Given the description of an element on the screen output the (x, y) to click on. 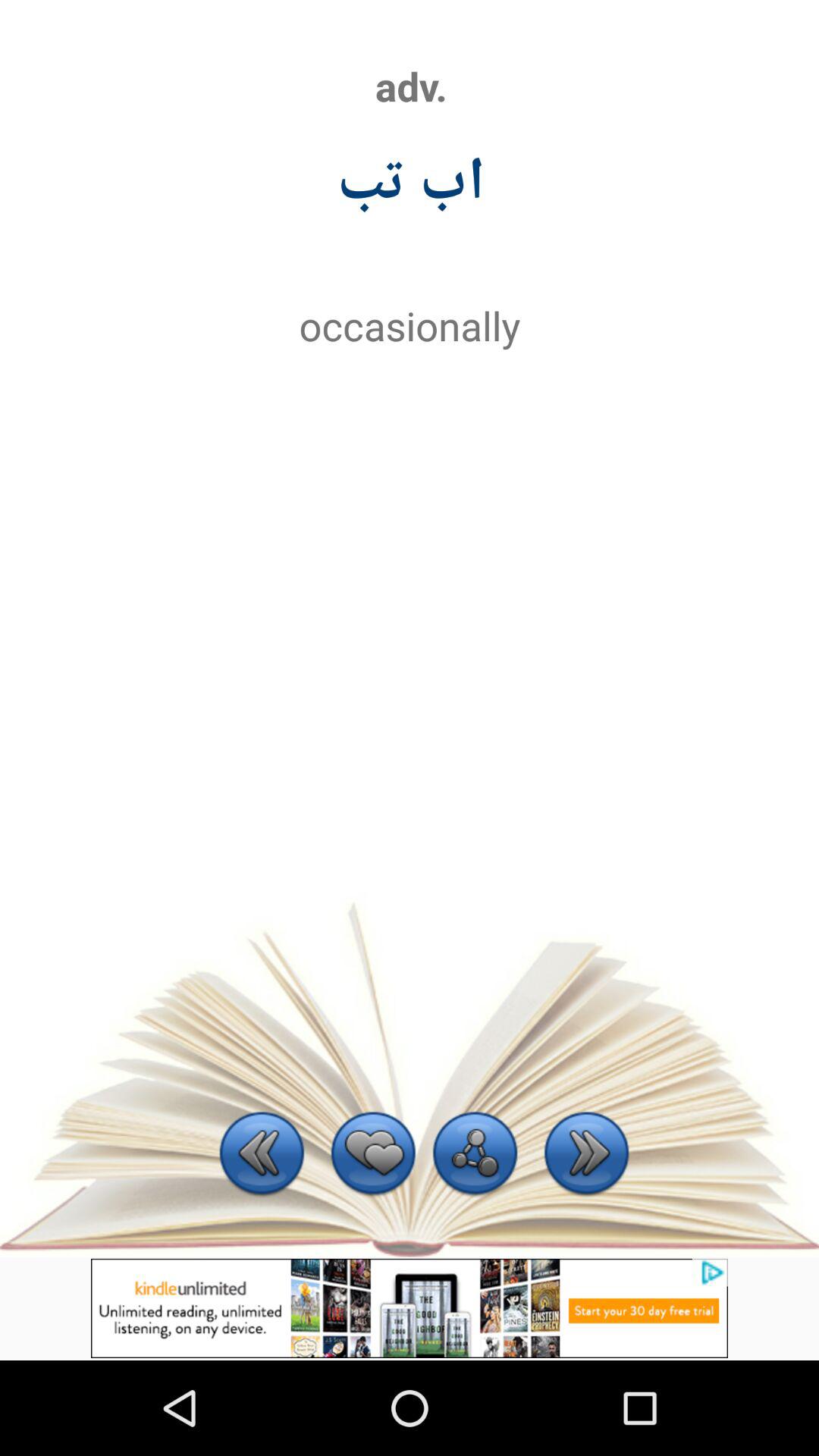
go to next (586, 1155)
